Given the description of an element on the screen output the (x, y) to click on. 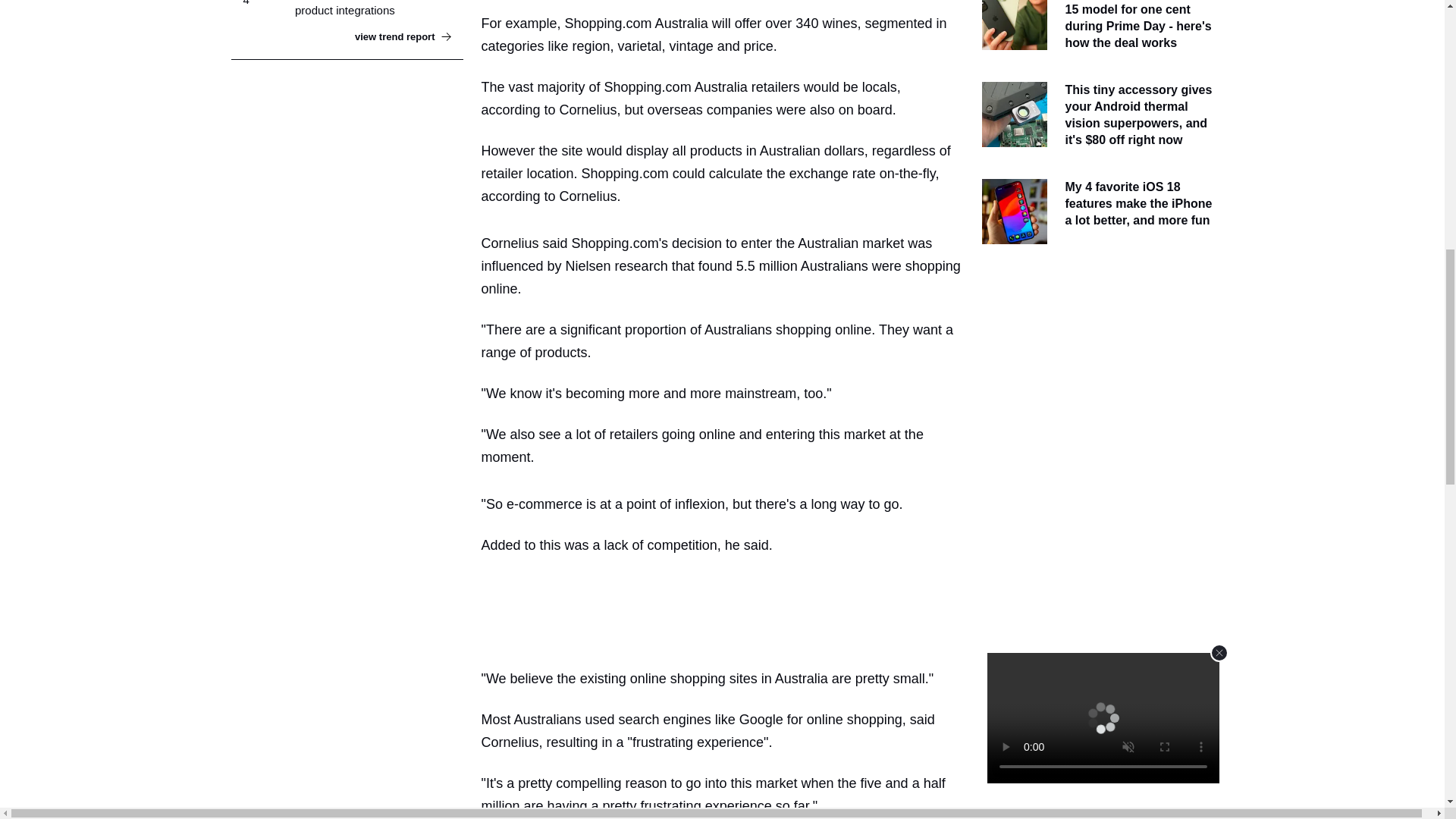
3rd party ad content (727, 608)
3rd party ad content (1097, 357)
